Given the description of an element on the screen output the (x, y) to click on. 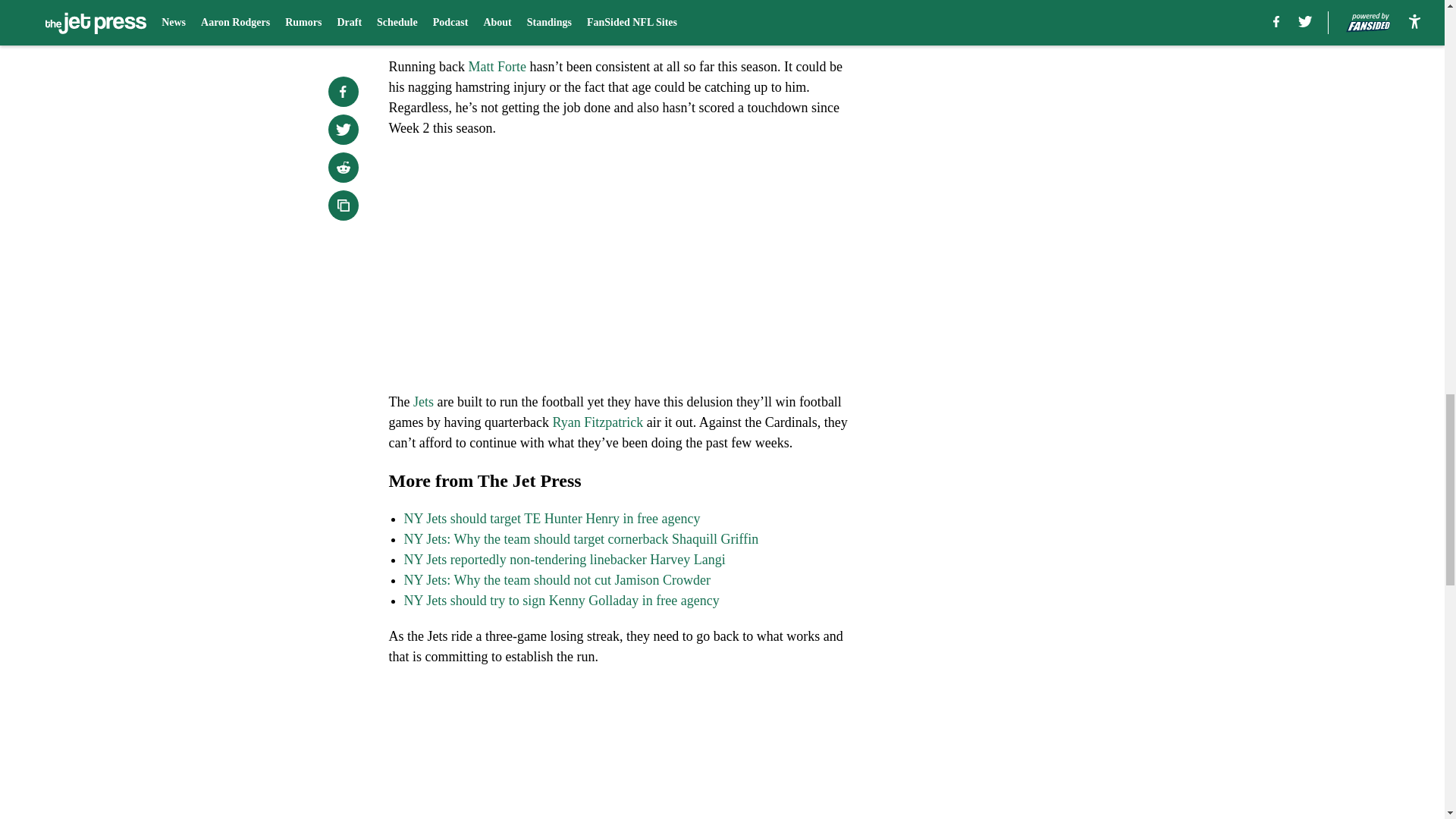
Jets (423, 401)
Matt Forte (497, 66)
NY Jets reportedly non-tendering linebacker Harvey Langi (564, 559)
NY Jets: Why the team should not cut Jamison Crowder (556, 580)
Ryan Fitzpatrick (597, 421)
NY Jets should try to sign Kenny Golladay in free agency (561, 600)
NY Jets should target TE Hunter Henry in free agency (551, 518)
